Given the description of an element on the screen output the (x, y) to click on. 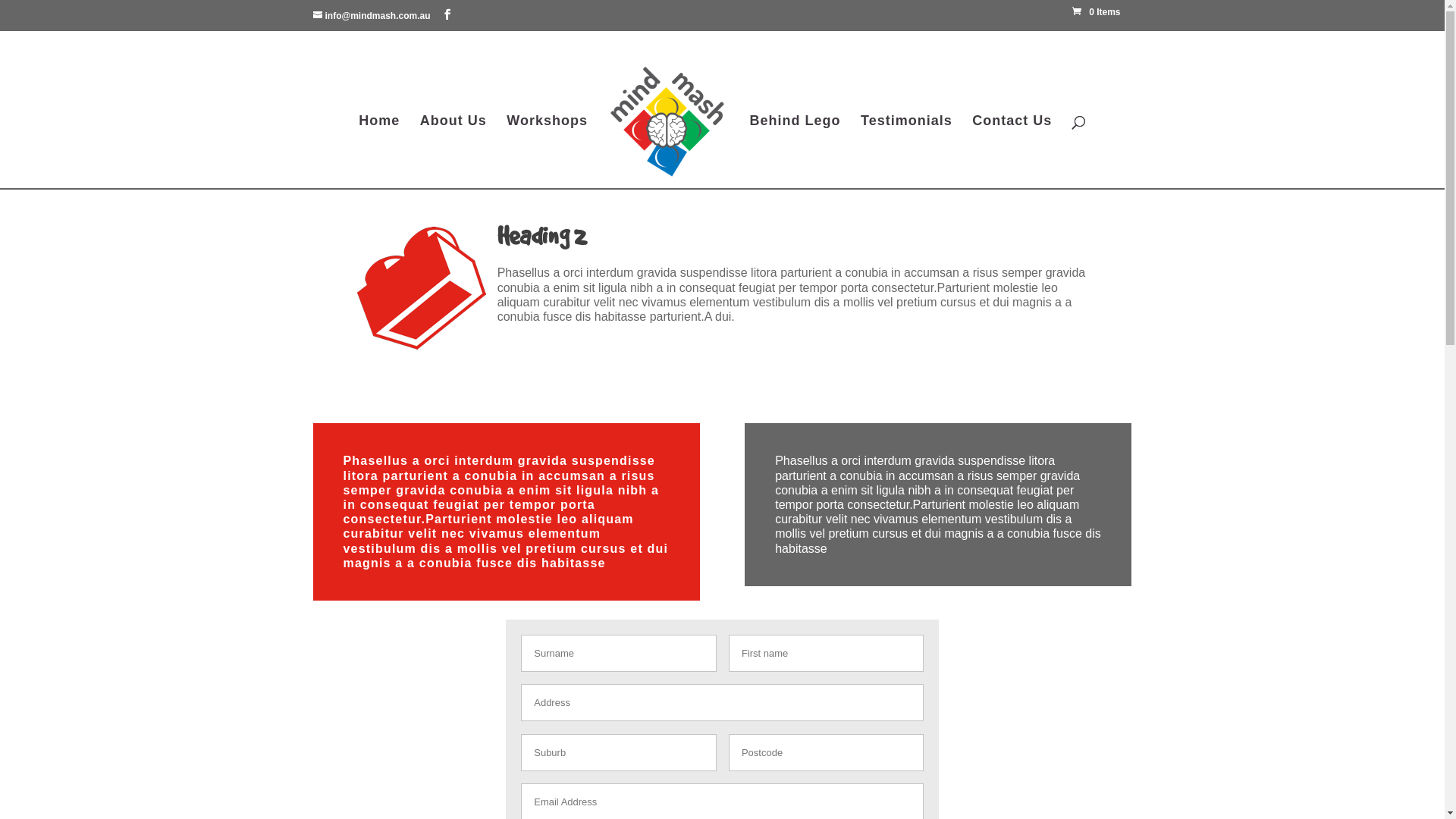
About Us Element type: text (453, 150)
Contact Us Element type: text (1011, 150)
Home Element type: text (378, 150)
Workshops Element type: text (546, 150)
Testimonials Element type: text (906, 150)
Behind Lego Element type: text (794, 150)
info@mindmash.com.au Element type: text (370, 15)
0 Items Element type: text (1101, 11)
